Given the description of an element on the screen output the (x, y) to click on. 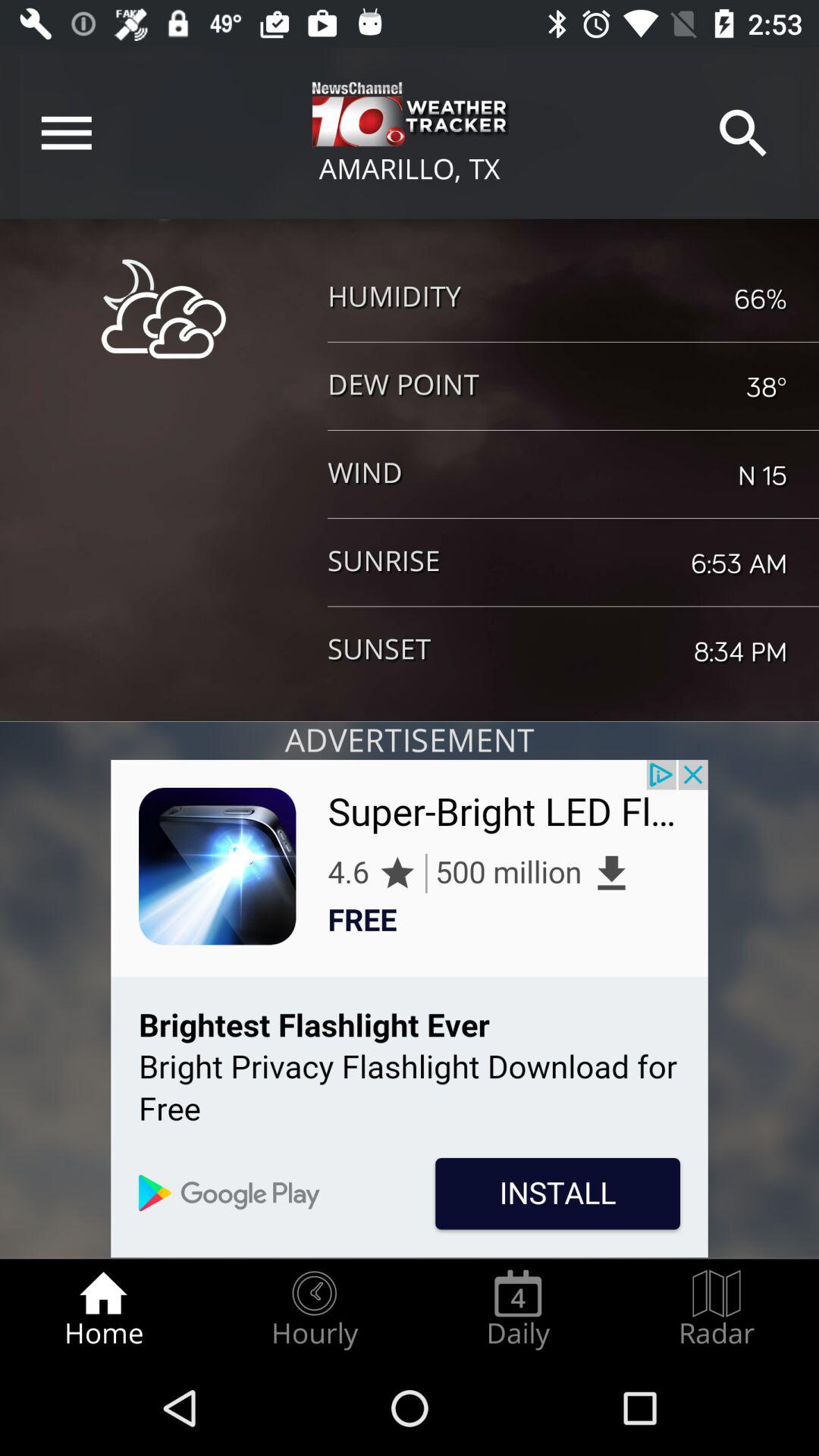
select item to the right of hourly (518, 1309)
